Given the description of an element on the screen output the (x, y) to click on. 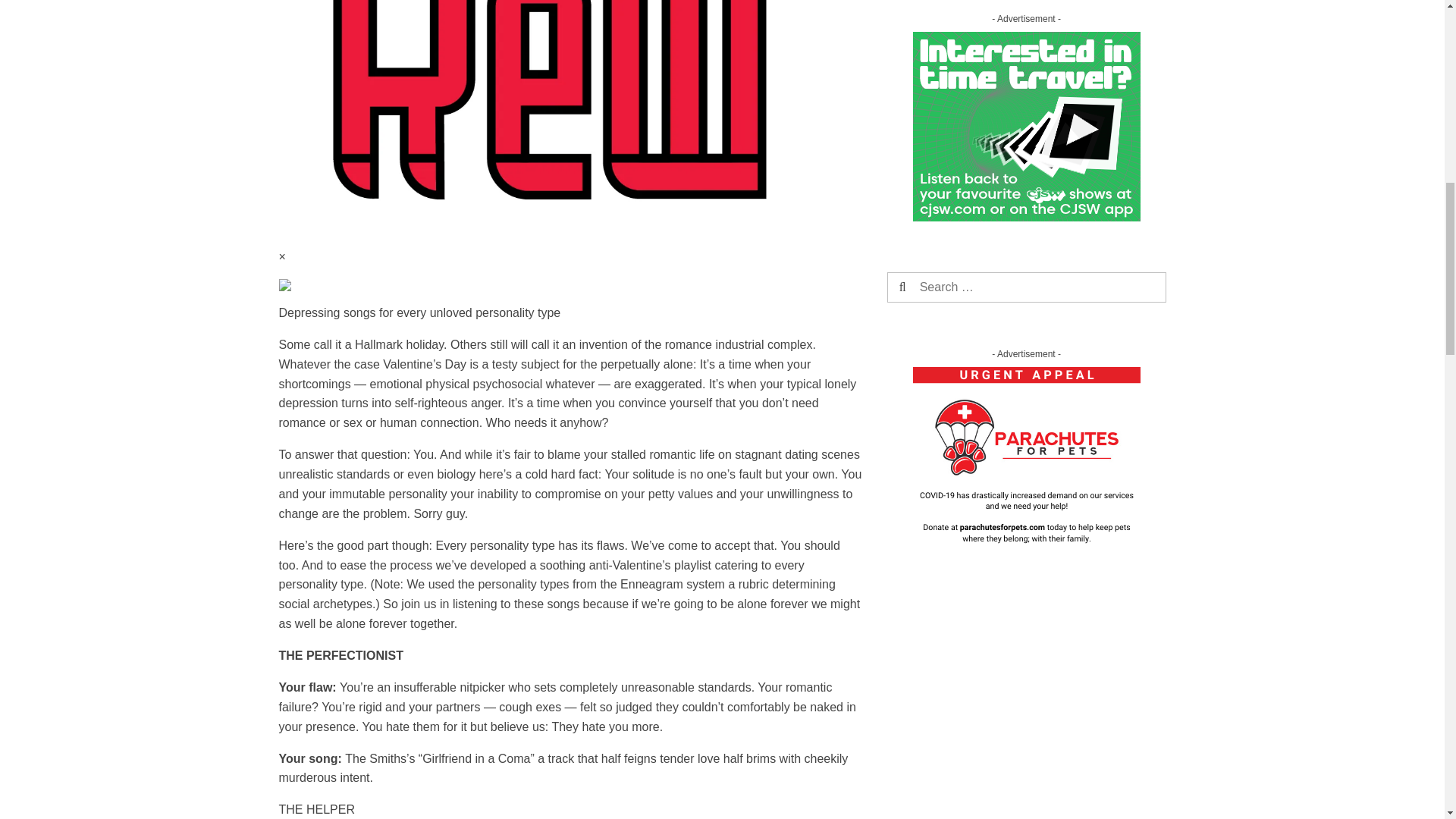
Search (929, 287)
Search (929, 287)
